Given the description of an element on the screen output the (x, y) to click on. 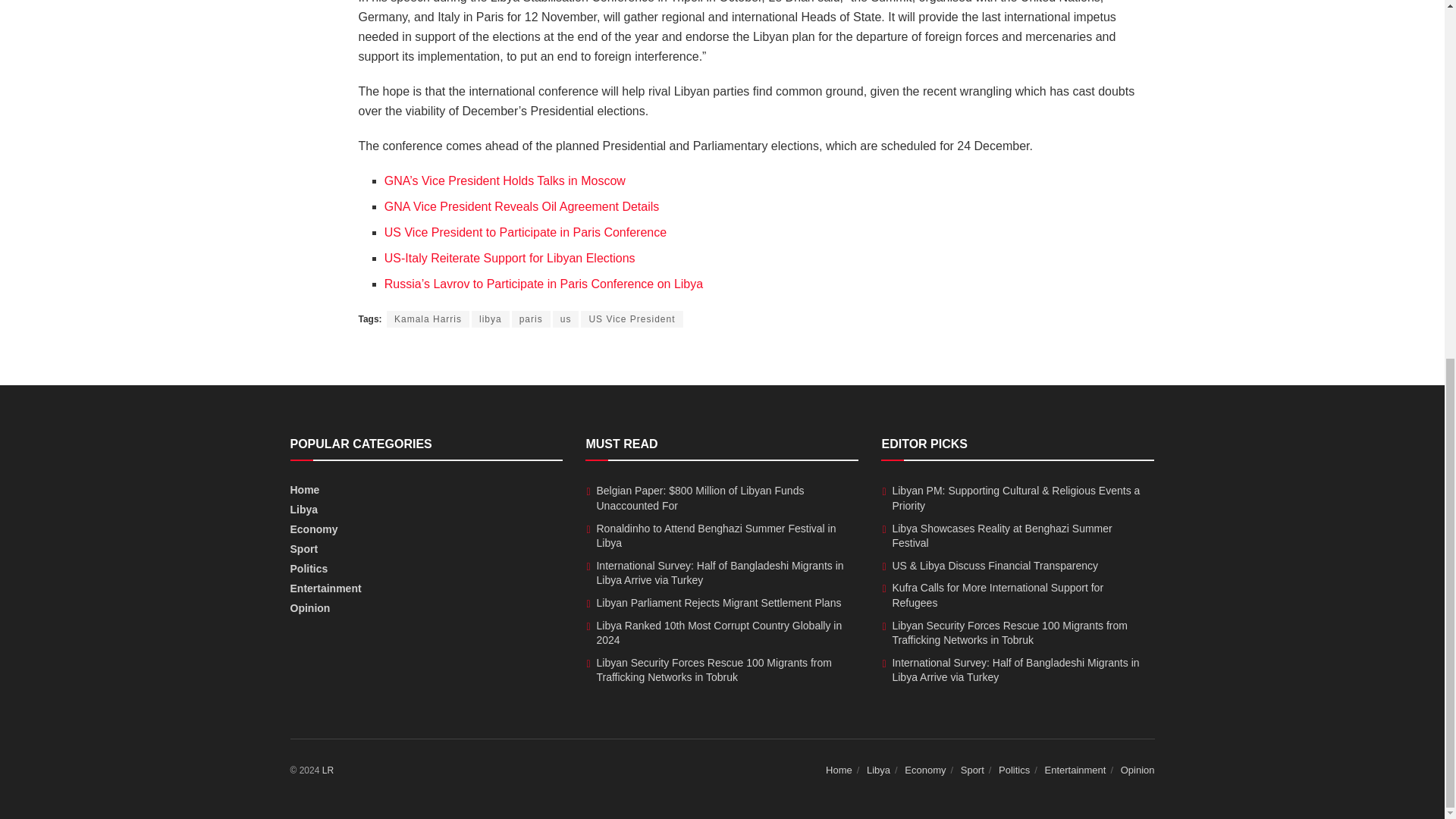
GNA Vice President Reveals Oil Agreement Details (521, 205)
libya (490, 319)
US Vice President to Participate in Paris Conference (525, 232)
US-Italy Reiterate Support for Libyan Elections (509, 257)
Kamala Harris (427, 319)
Libya Review (327, 769)
